Given the description of an element on the screen output the (x, y) to click on. 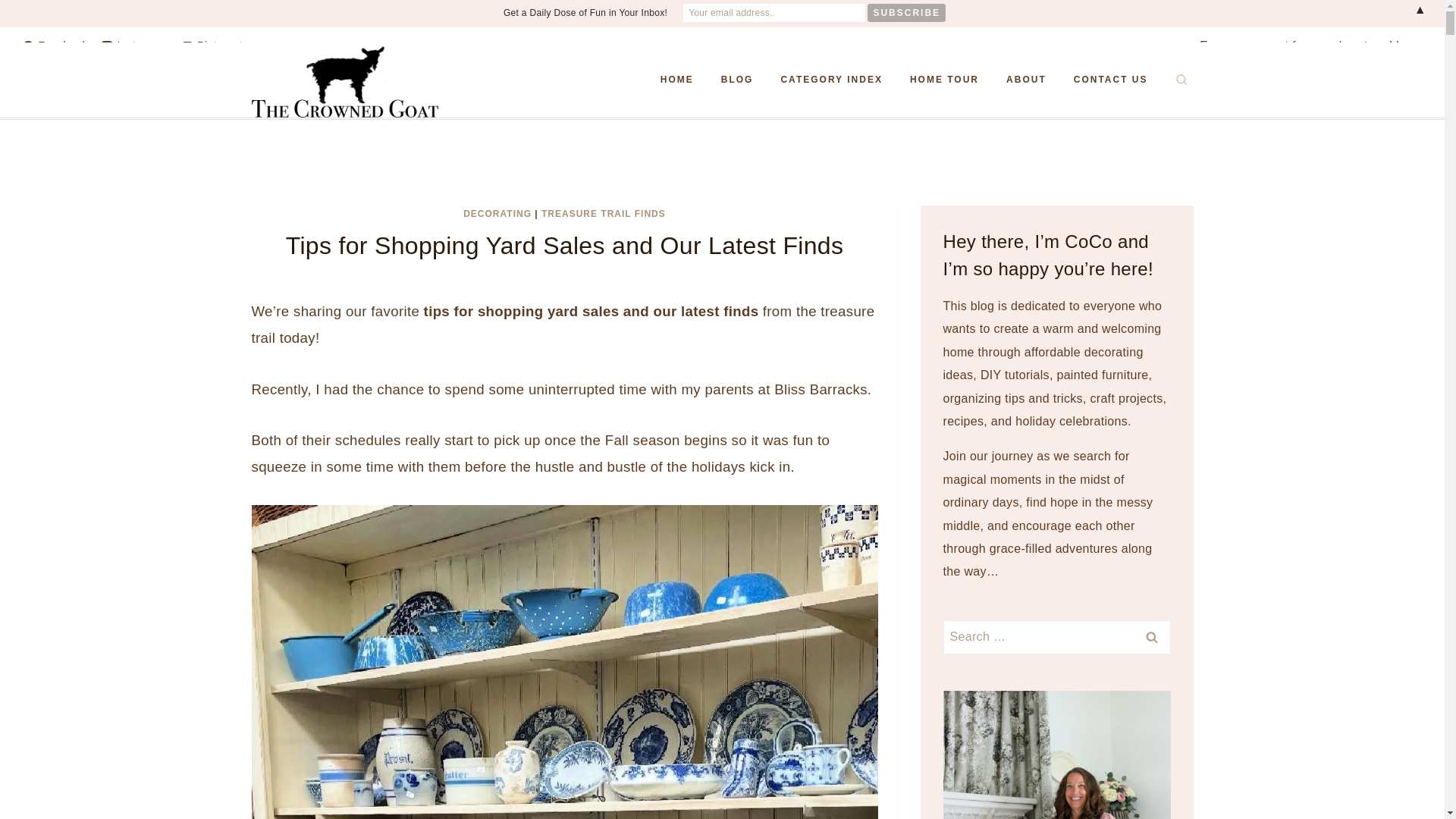
Facebook (55, 46)
Subscribe (905, 13)
BLOG (737, 79)
Pinterest (212, 46)
Search (1151, 636)
Search (1151, 636)
CATEGORY INDEX (831, 79)
HOME (676, 79)
CONTACT US (1110, 79)
HOME TOUR (944, 79)
ABOUT (1025, 79)
Instagram (134, 46)
DECORATING (497, 213)
TREASURE TRAIL FINDS (603, 213)
